Given the description of an element on the screen output the (x, y) to click on. 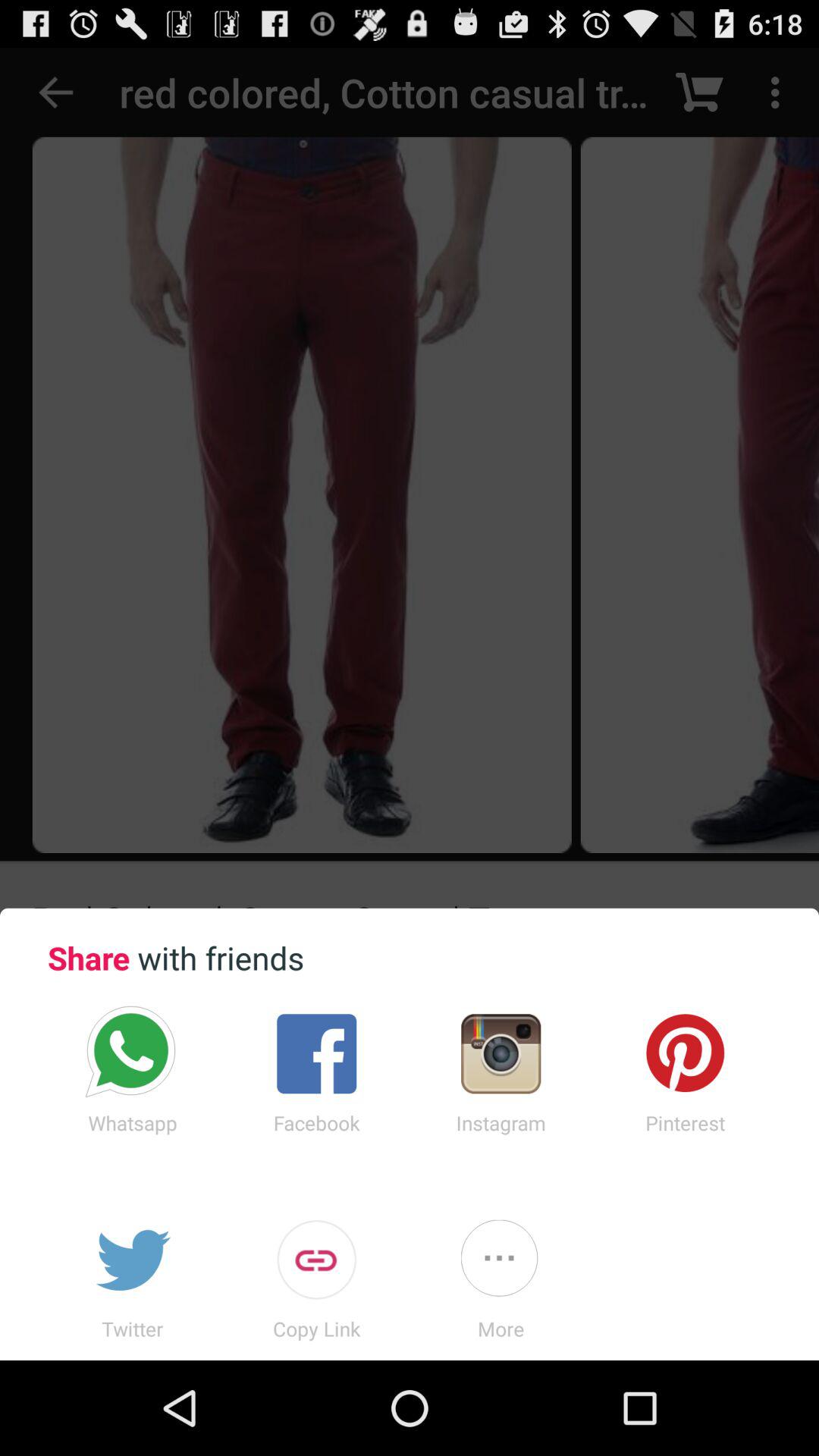
open the icon at the top (409, 477)
